Given the description of an element on the screen output the (x, y) to click on. 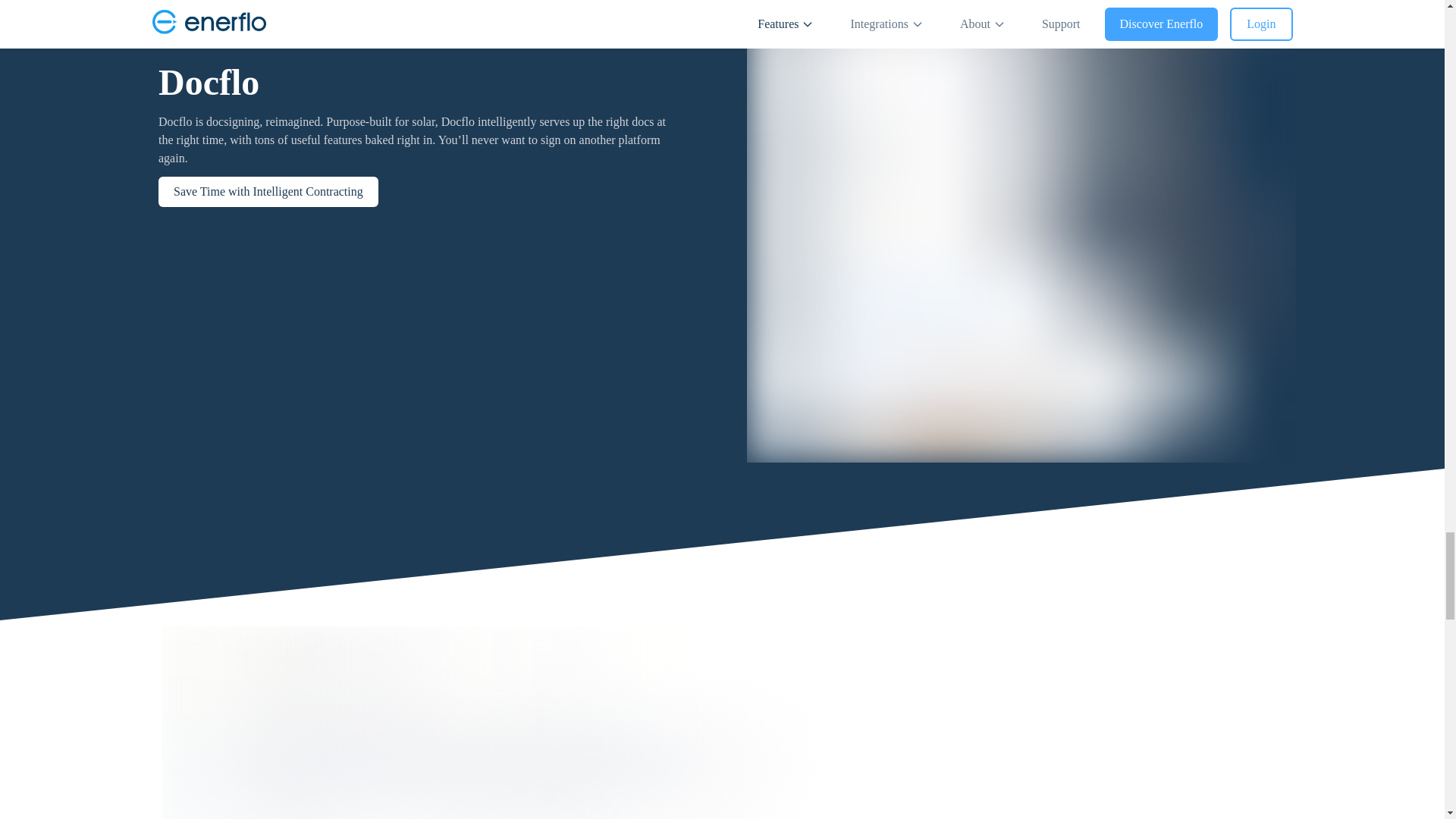
Save Time with Intelligent Contracting (267, 191)
